Given the description of an element on the screen output the (x, y) to click on. 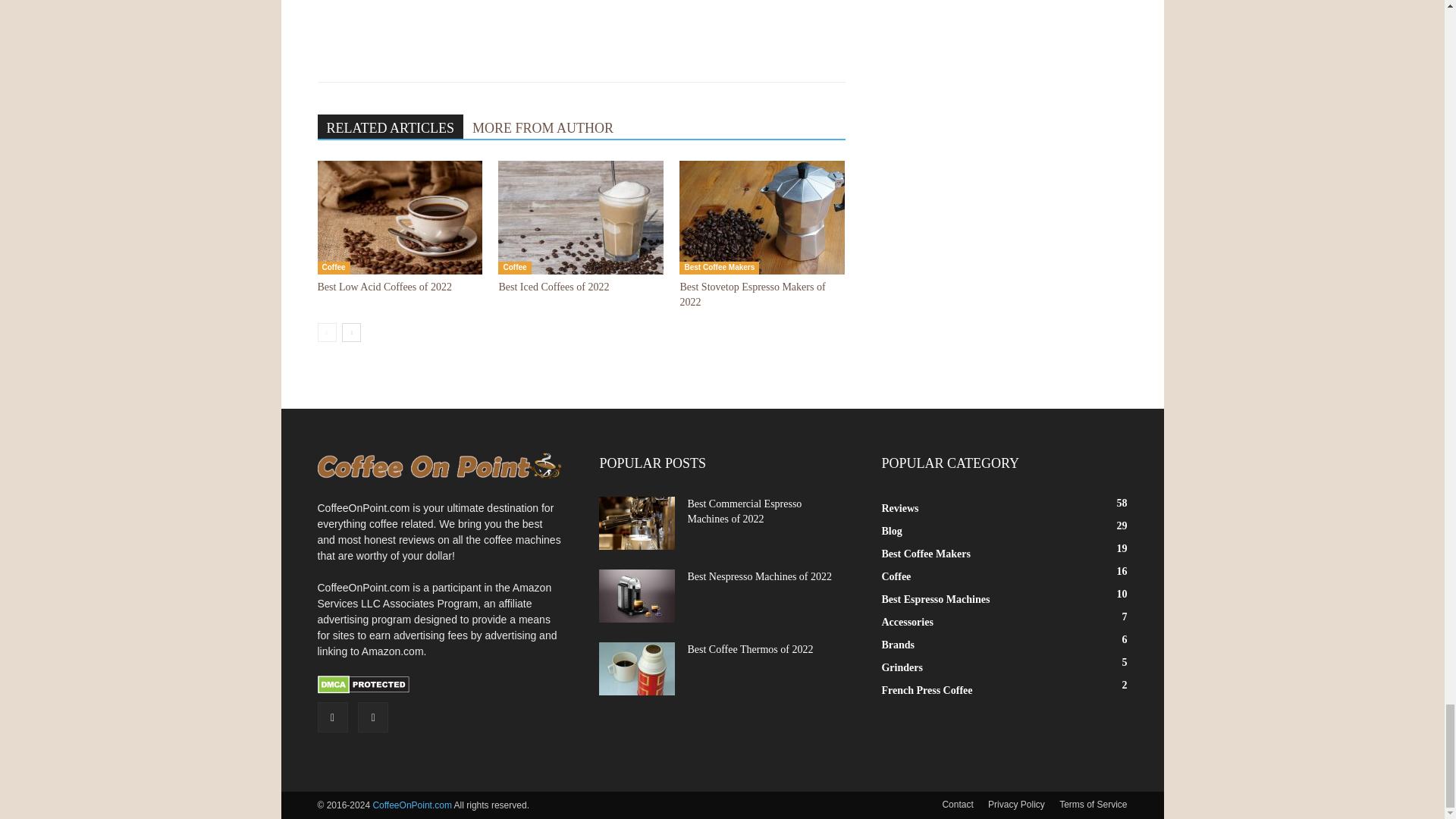
Best Stovetop Espresso Makers of 2022 (761, 217)
Best Iced Coffees of 2022 (580, 217)
Best Low Acid Coffees of 2022 (399, 217)
bottomFacebookLike (430, 17)
Best Low Acid Coffees of 2022 (384, 286)
Best Stovetop Espresso Makers of 2022 (752, 294)
Best Iced Coffees of 2022 (552, 286)
